Given the description of an element on the screen output the (x, y) to click on. 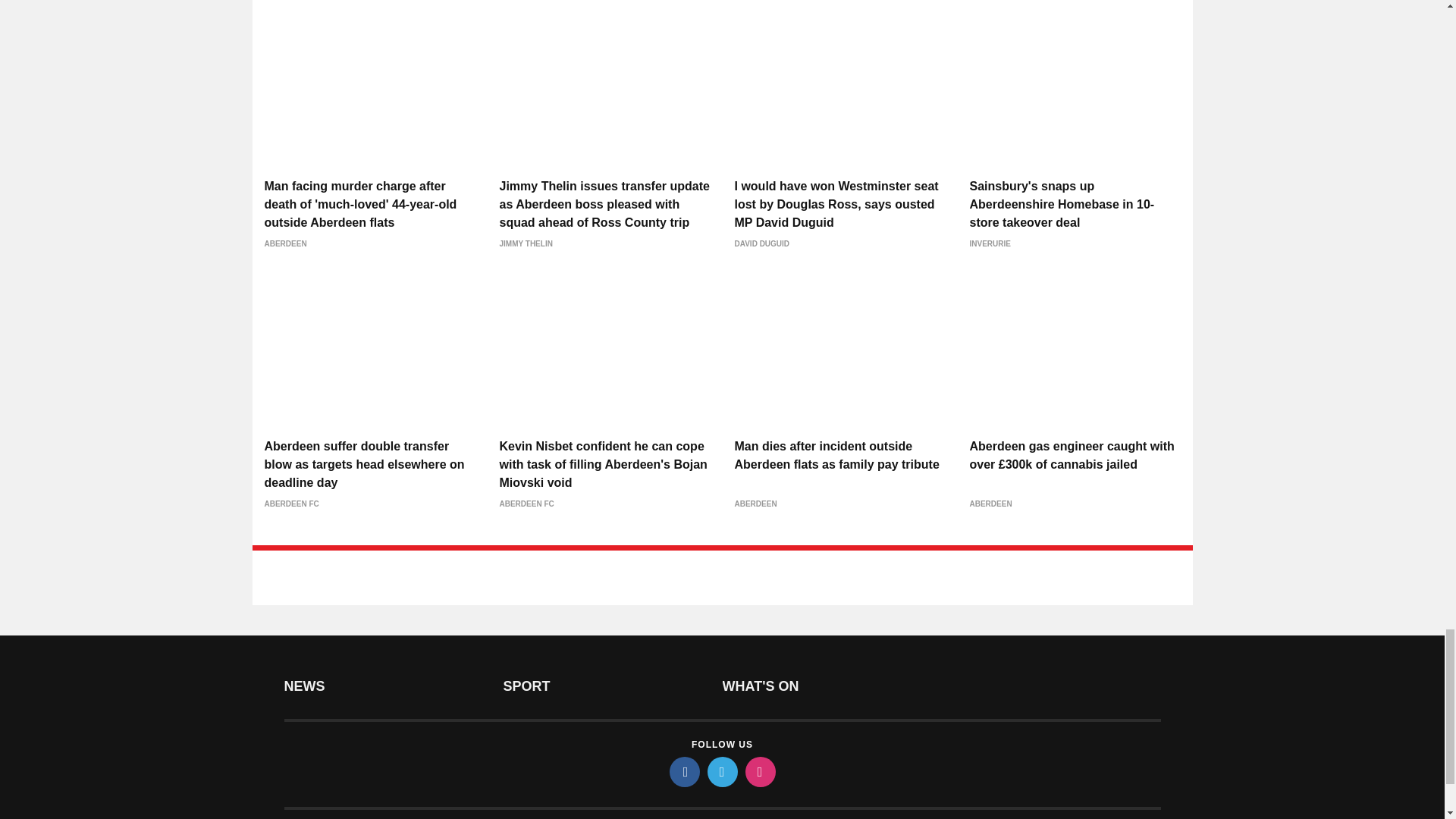
instagram (759, 771)
twitter (721, 771)
facebook (683, 771)
